Given the description of an element on the screen output the (x, y) to click on. 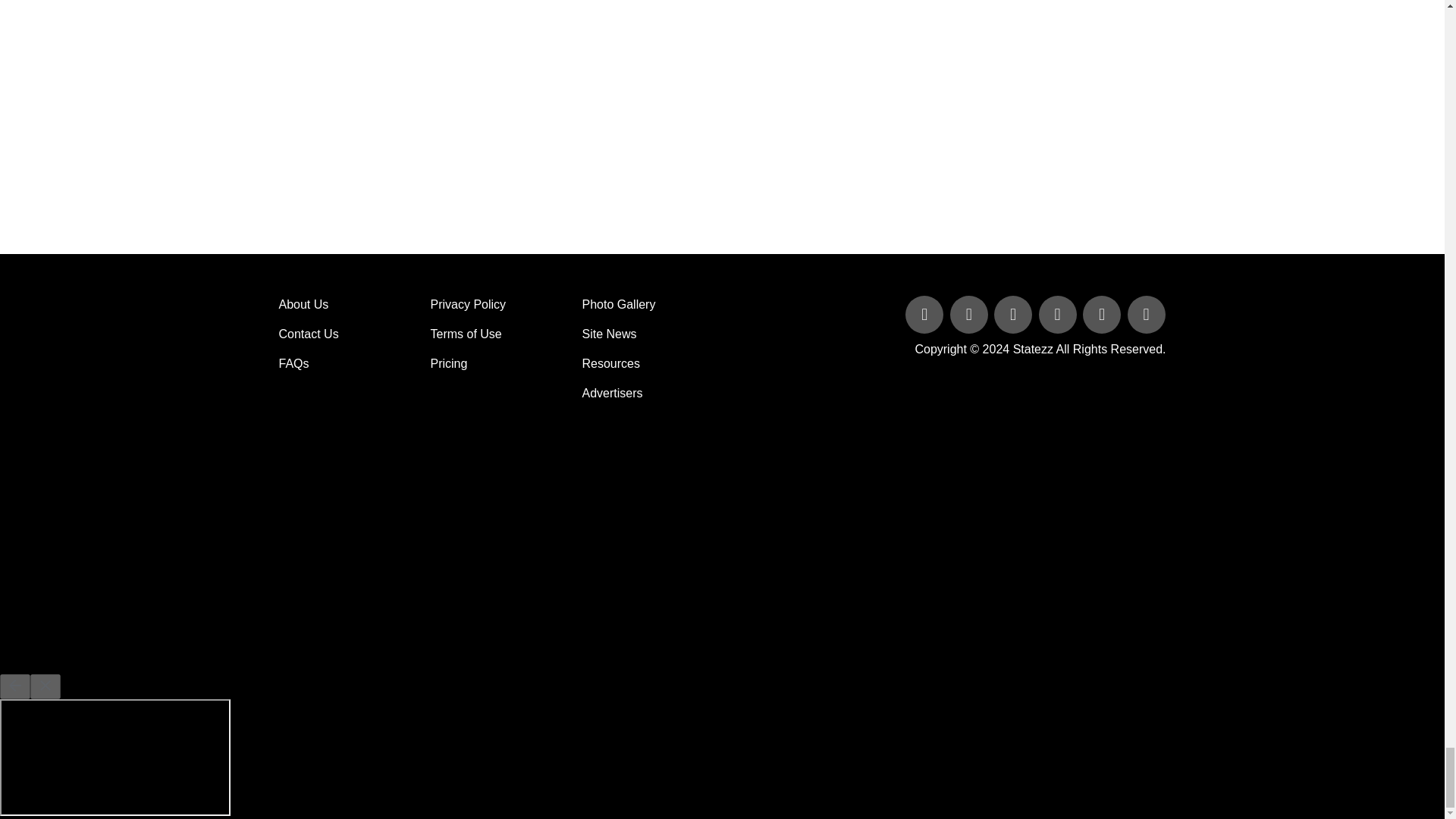
Follow Us on Linked In (1014, 315)
Follow Us on Pinterest (1103, 315)
Follow Us on You Tube (1058, 315)
Follow Us on Instagram (1145, 315)
Follow Us on Twitter (970, 315)
Follow Us on Facebook (925, 315)
